Given the description of an element on the screen output the (x, y) to click on. 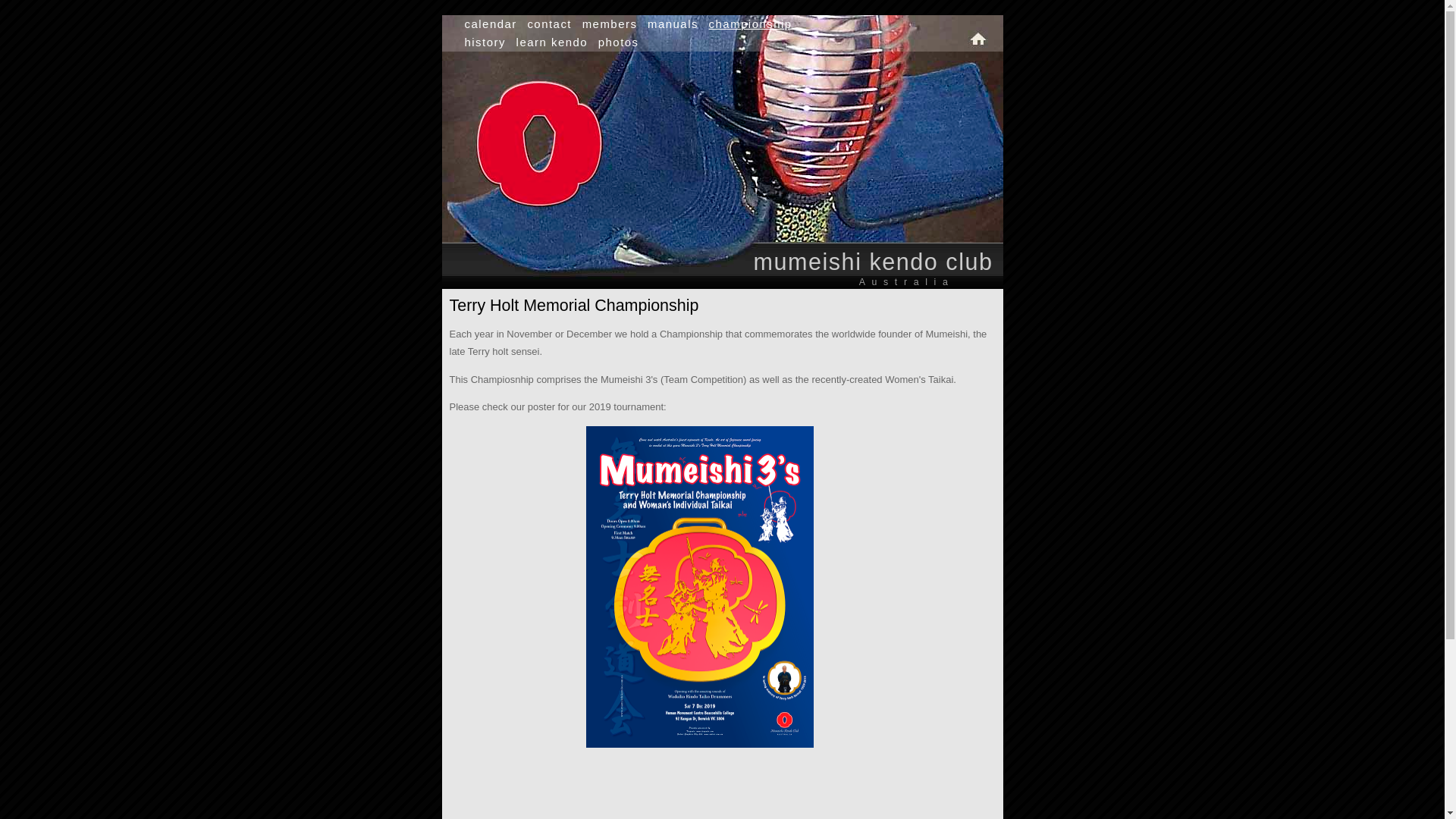
calendar Element type: text (490, 23)
photos Element type: text (618, 41)
contact Element type: text (549, 23)
members Element type: text (609, 23)
history Element type: text (484, 41)
manuals Element type: text (672, 23)
learn kendo Element type: text (552, 41)
